Given the description of an element on the screen output the (x, y) to click on. 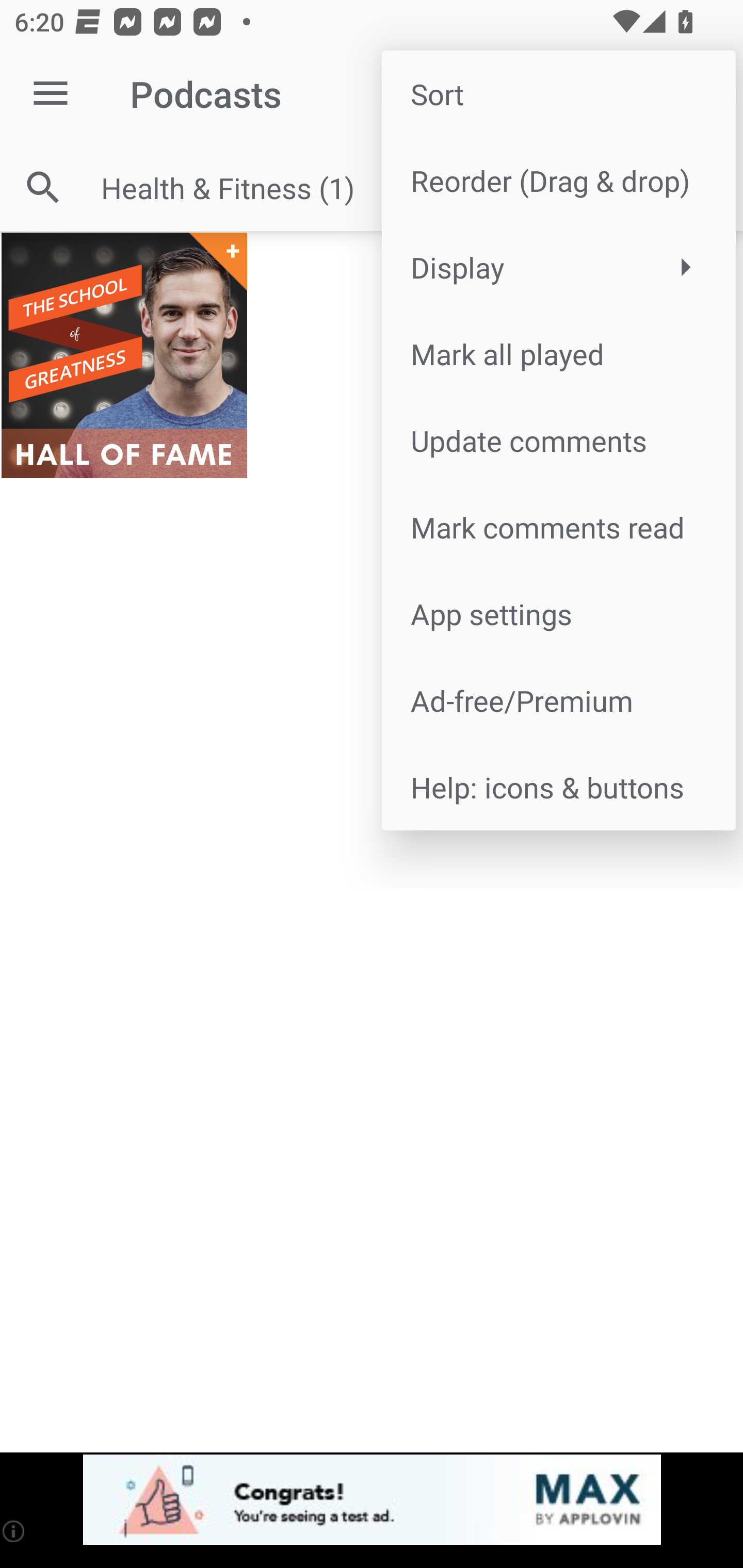
Sort (558, 93)
Reorder (Drag & drop) (558, 180)
Display (558, 267)
Mark all played (558, 353)
Update comments (558, 440)
Mark comments read (558, 527)
App settings (558, 613)
Ad-free/Premium (558, 699)
Help: icons & buttons (558, 787)
